Given the description of an element on the screen output the (x, y) to click on. 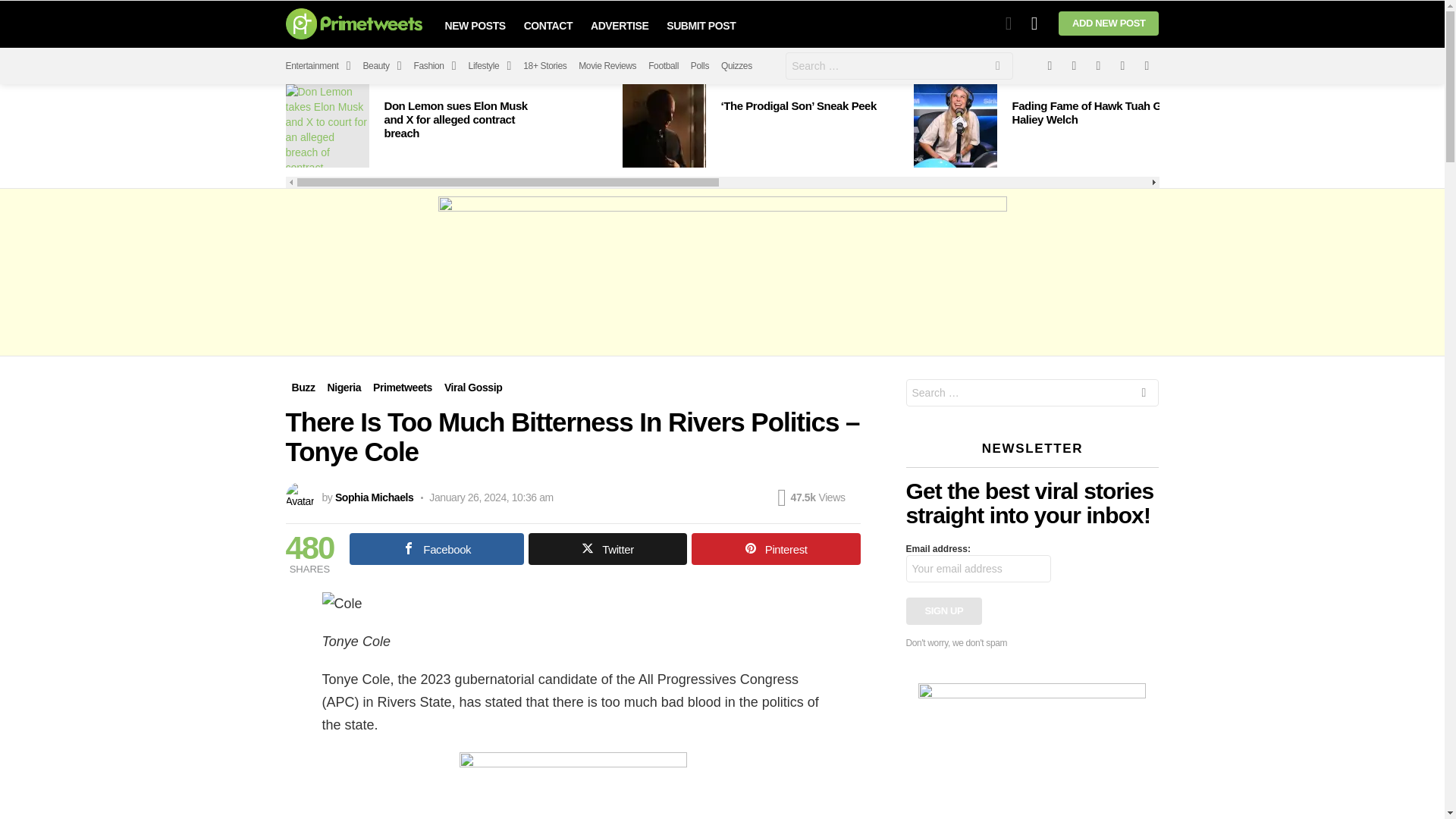
Fading Fame of Hawk Tuah Girl Haliey Welch (953, 125)
Beauty (381, 65)
ADD NEW POST (1108, 23)
CONTACT (547, 25)
SEARCH (997, 67)
Search for: (899, 65)
Quizzes (736, 65)
Entertainment (317, 65)
ADVERTISE (619, 25)
Football (662, 65)
